Given the description of an element on the screen output the (x, y) to click on. 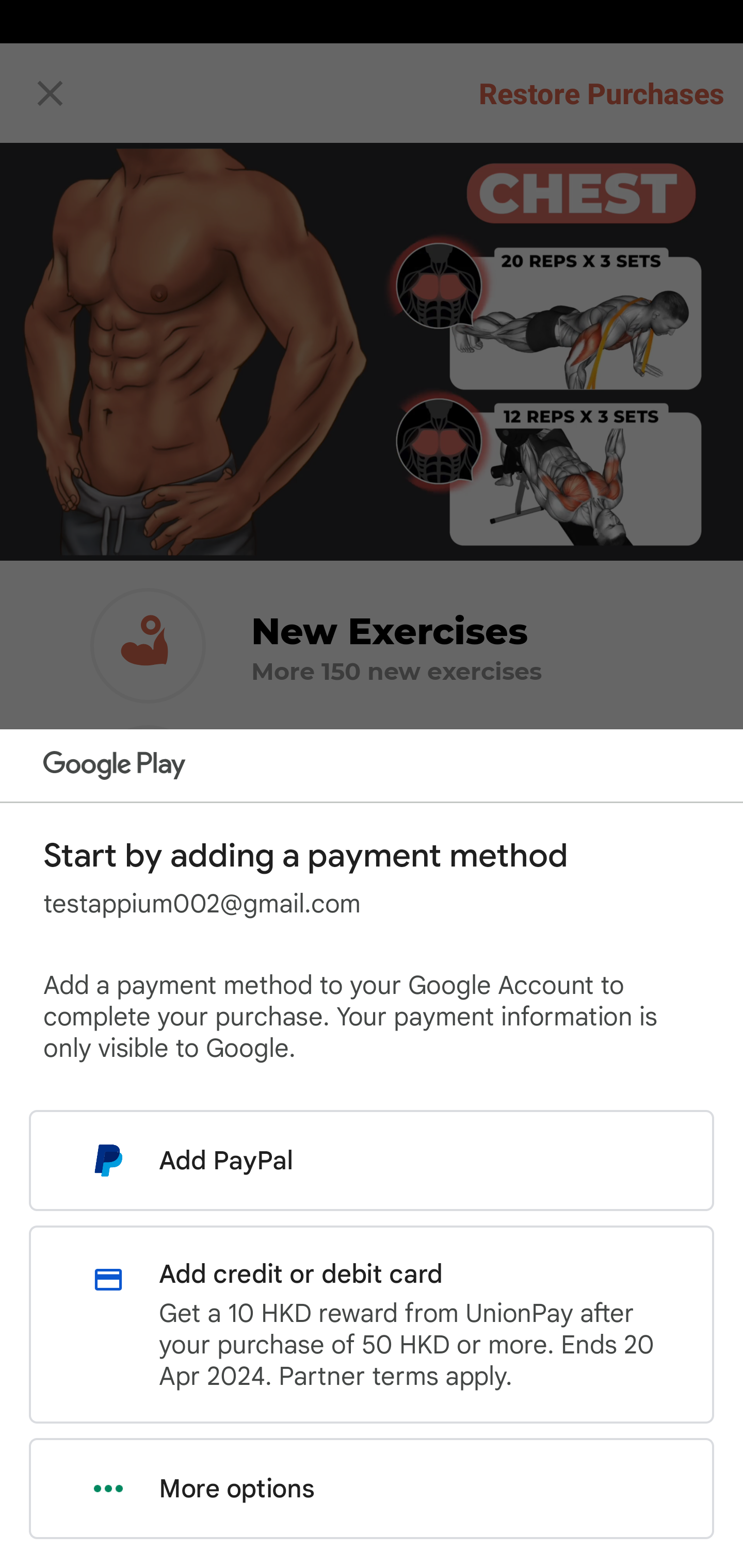
Add PayPal (371, 1160)
More options (371, 1488)
